Given the description of an element on the screen output the (x, y) to click on. 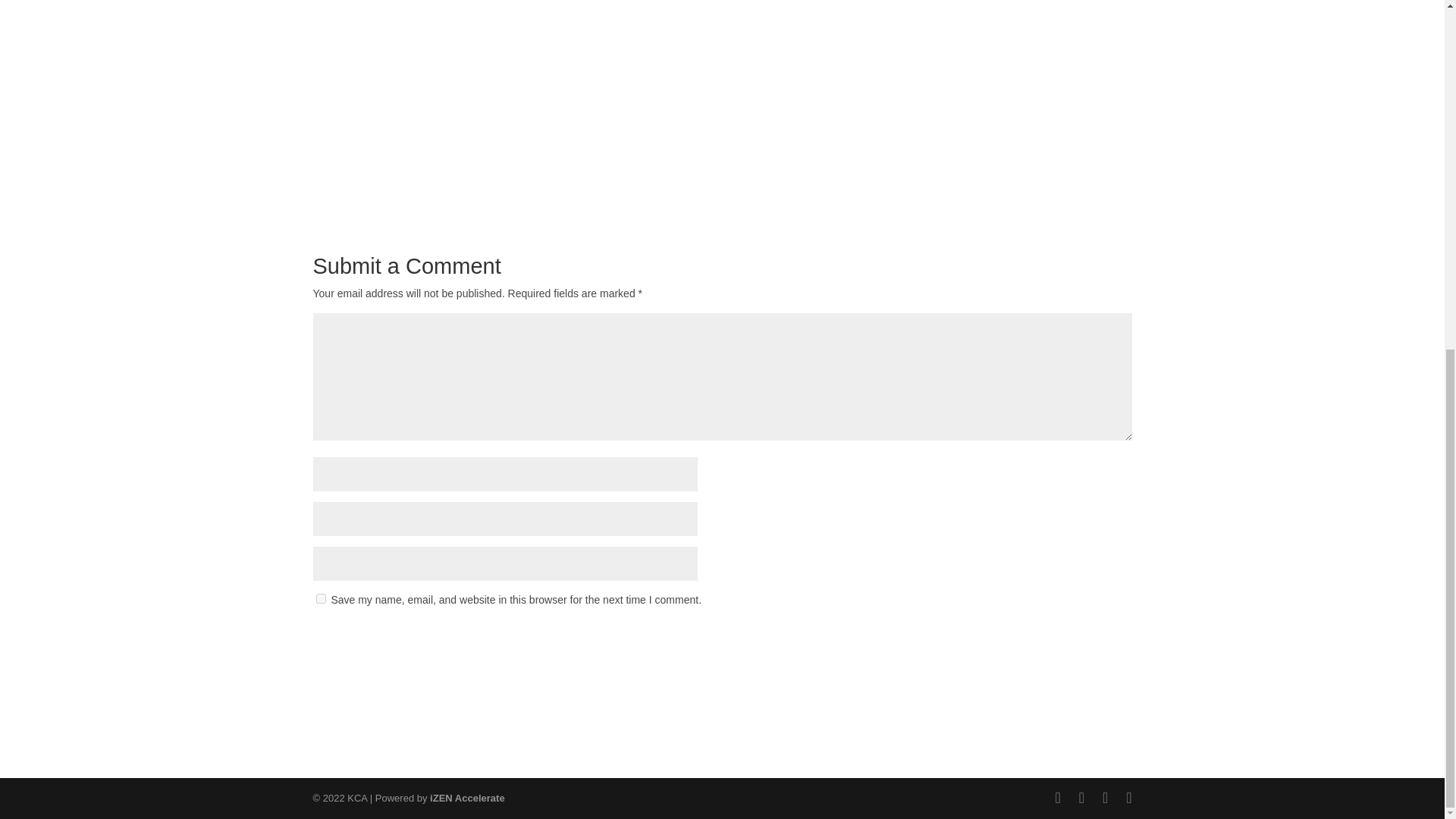
Submit Comment (1056, 638)
yes (319, 598)
